Given the description of an element on the screen output the (x, y) to click on. 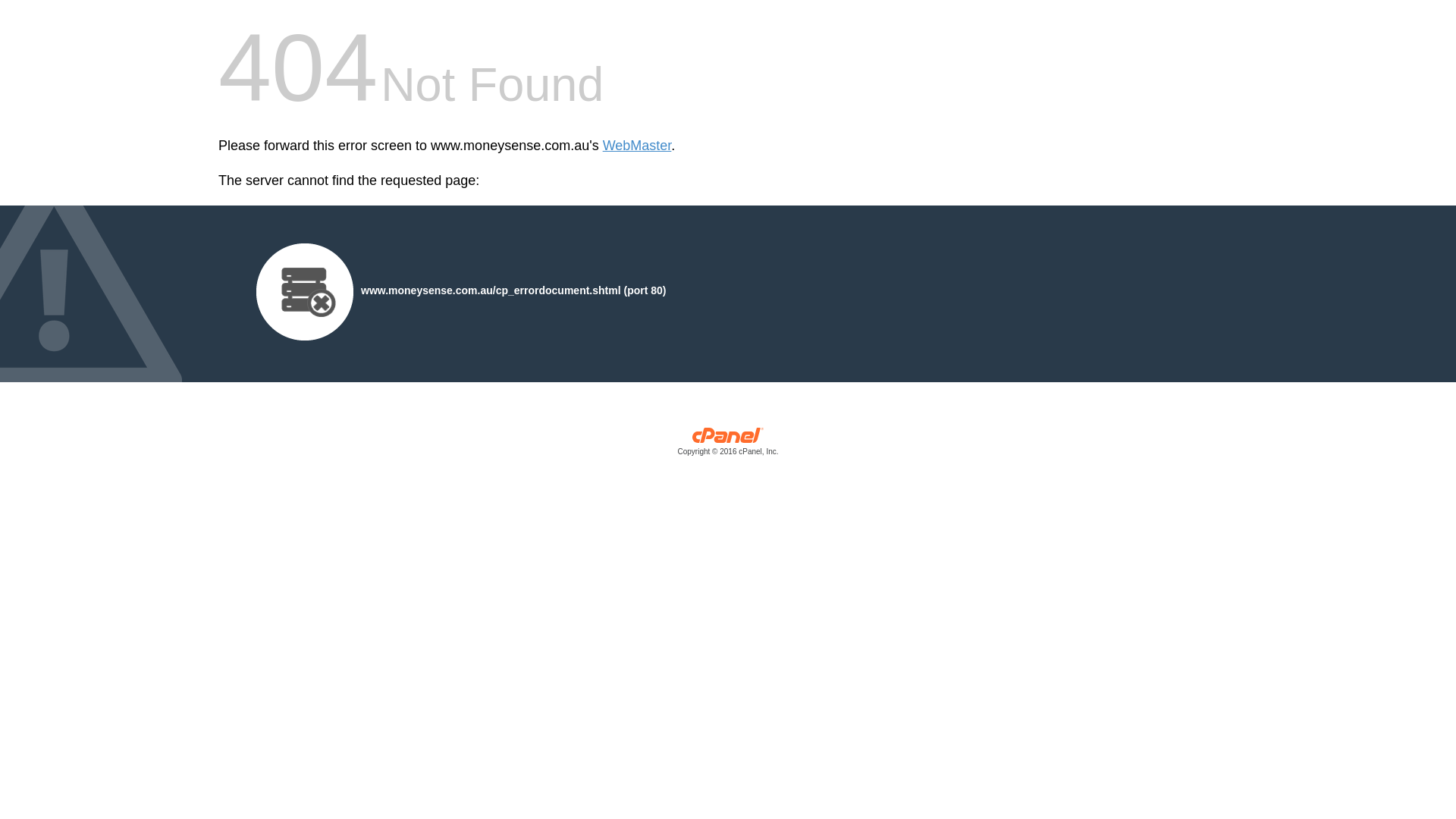
WebMaster Element type: text (636, 145)
